Given the description of an element on the screen output the (x, y) to click on. 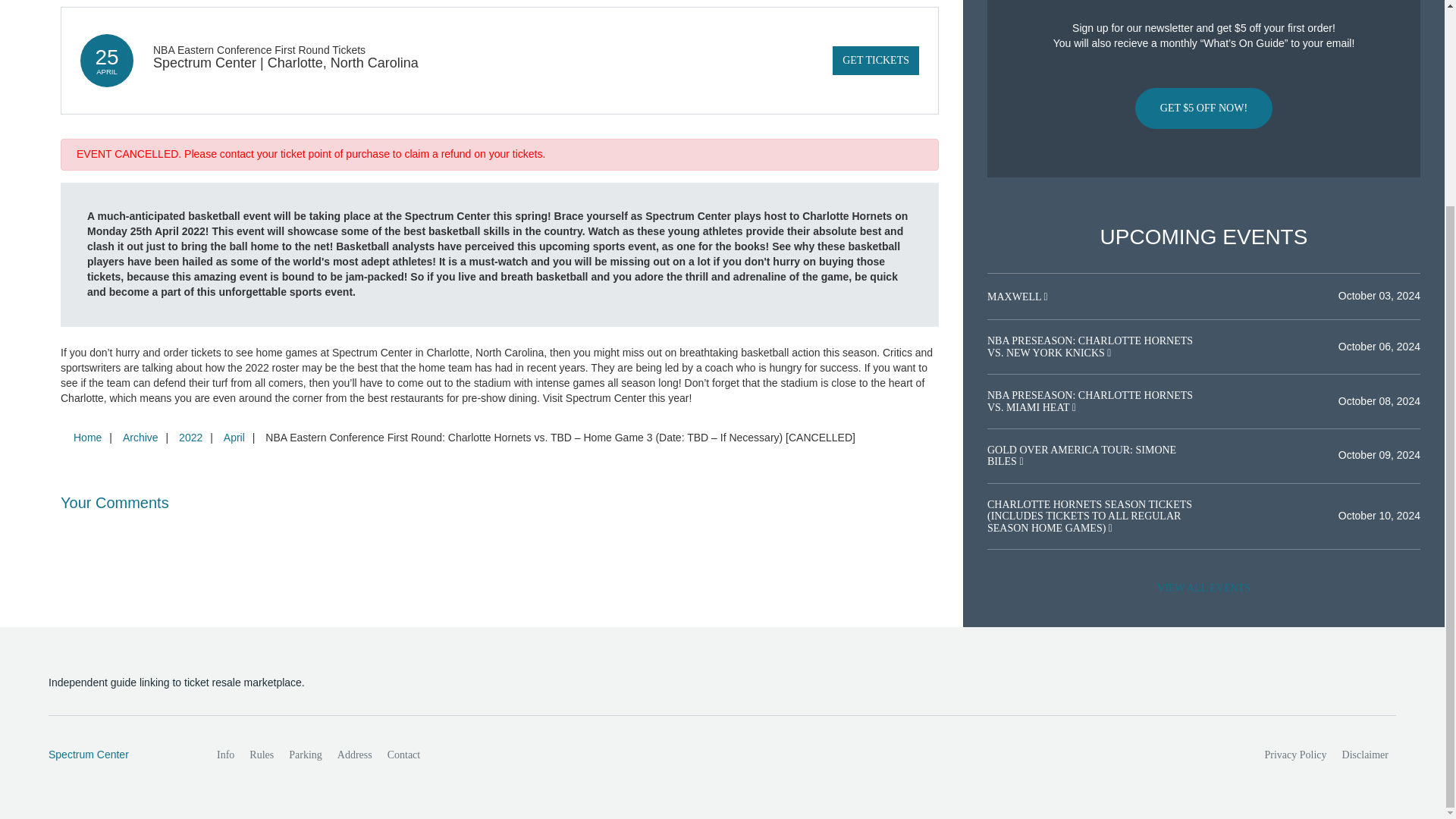
Home (87, 437)
Archive (140, 437)
Spectrum Center (116, 754)
GET TICKETS (875, 60)
Address (355, 755)
Info (225, 755)
Rules (261, 755)
NBA Eastern Conference First Round Tickets (258, 50)
VIEW ALL EVENTS (1203, 588)
Disclaimer (1365, 755)
